Given the description of an element on the screen output the (x, y) to click on. 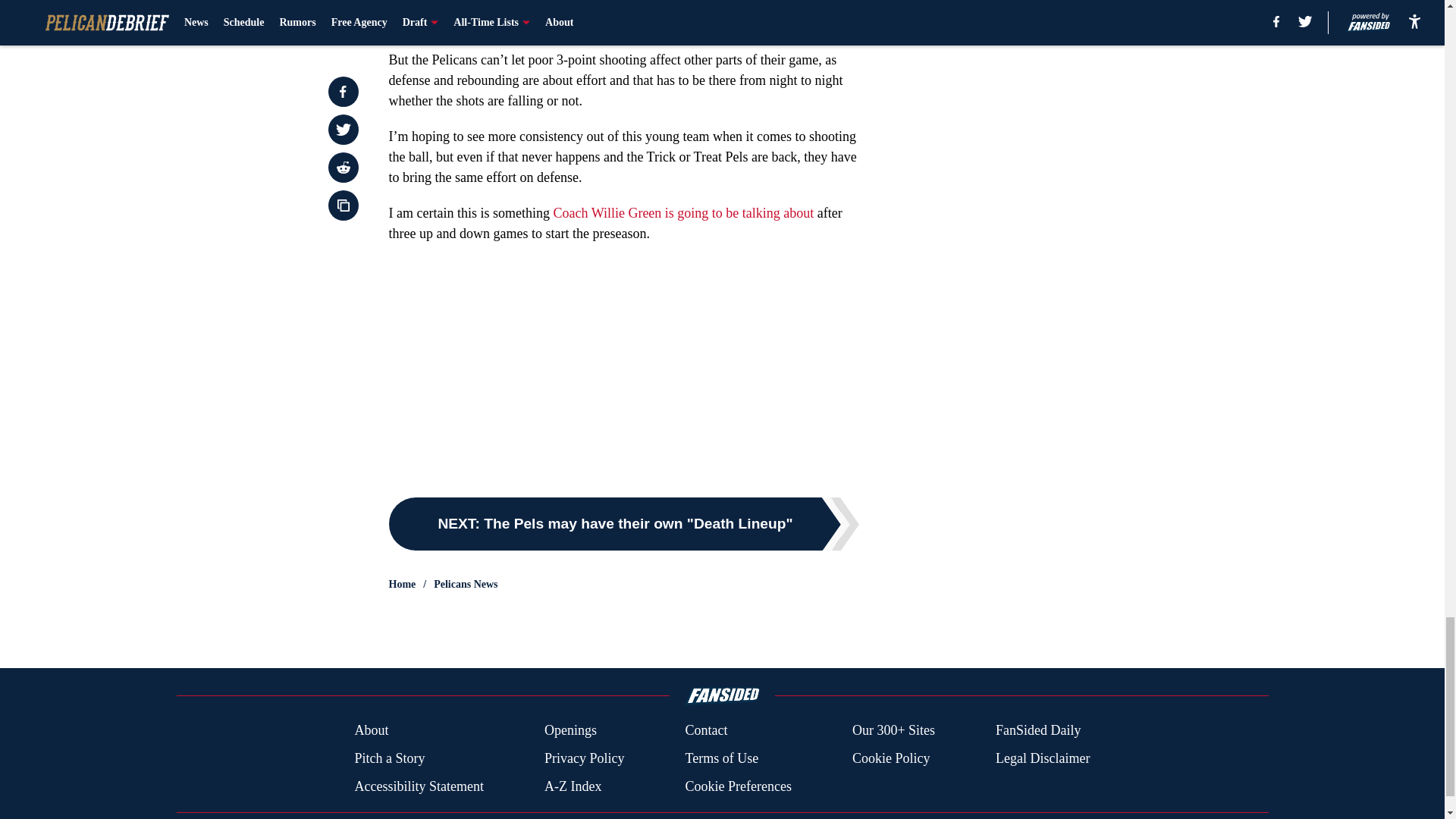
About (370, 730)
Pelicans News (465, 584)
Home (401, 584)
Coach Willie Green is going to be talking about (683, 212)
Openings (570, 730)
NEXT: The Pels may have their own "Death Lineup" (623, 523)
